Given the description of an element on the screen output the (x, y) to click on. 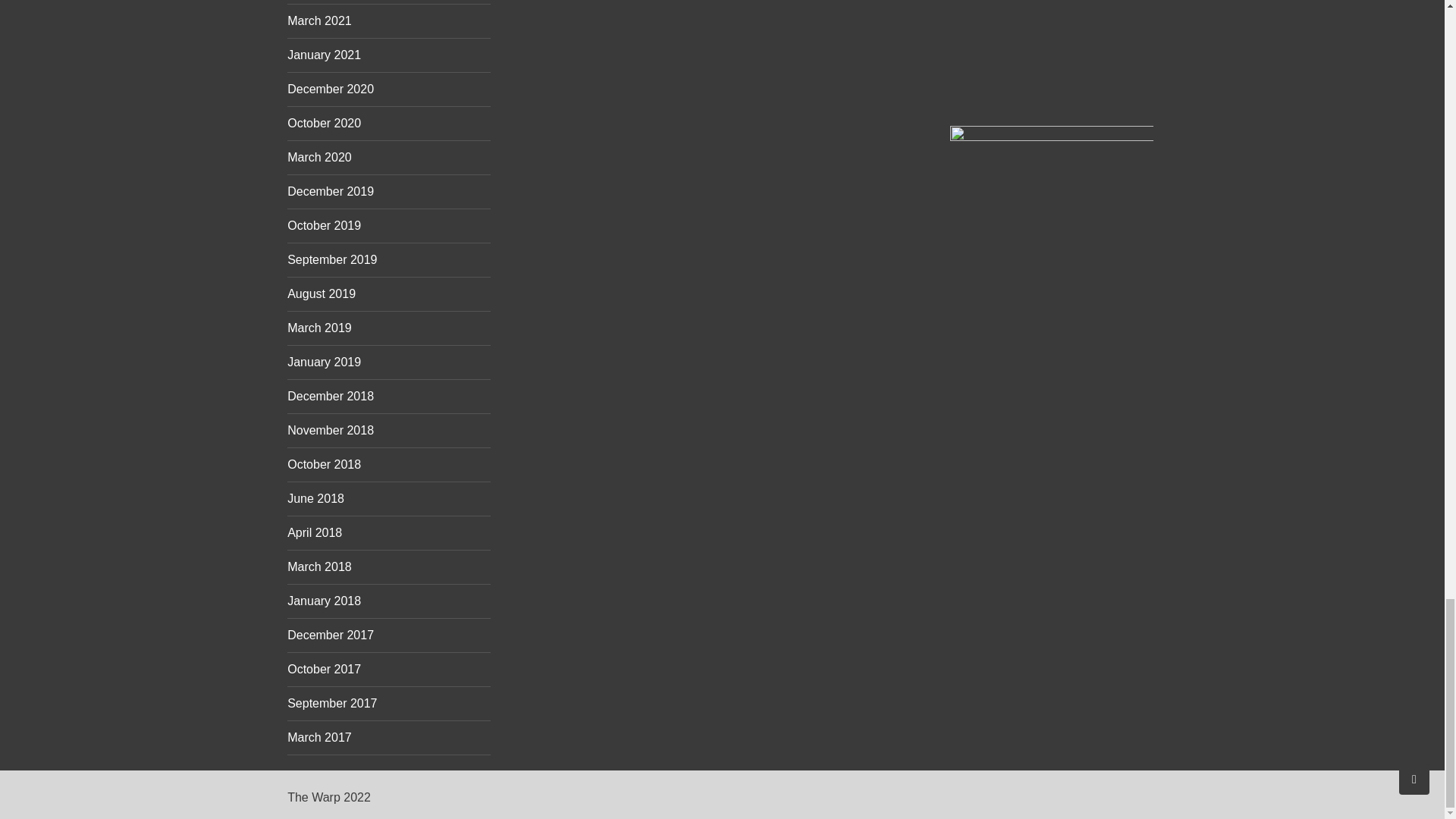
October 2020 (323, 123)
March 2021 (319, 20)
September 2019 (331, 259)
January 2021 (323, 54)
March 2020 (319, 156)
August 2019 (320, 293)
October 2019 (323, 225)
December 2020 (330, 88)
March 2019 (319, 327)
December 2019 (330, 191)
